Given the description of an element on the screen output the (x, y) to click on. 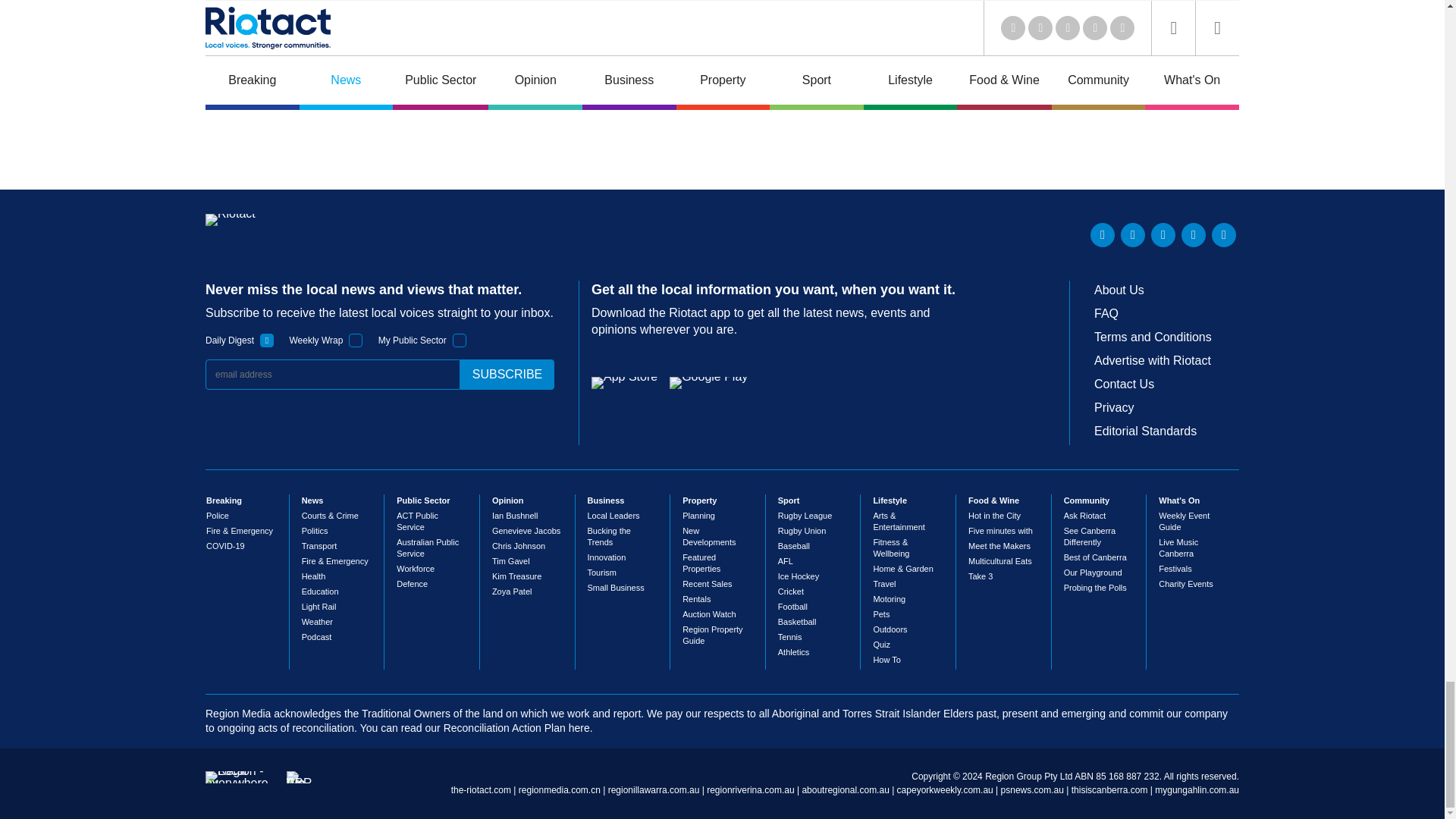
LinkedIn (1102, 234)
1 (266, 340)
Twitter (1132, 234)
1 (458, 340)
1 (355, 340)
subscribe (507, 374)
